Given the description of an element on the screen output the (x, y) to click on. 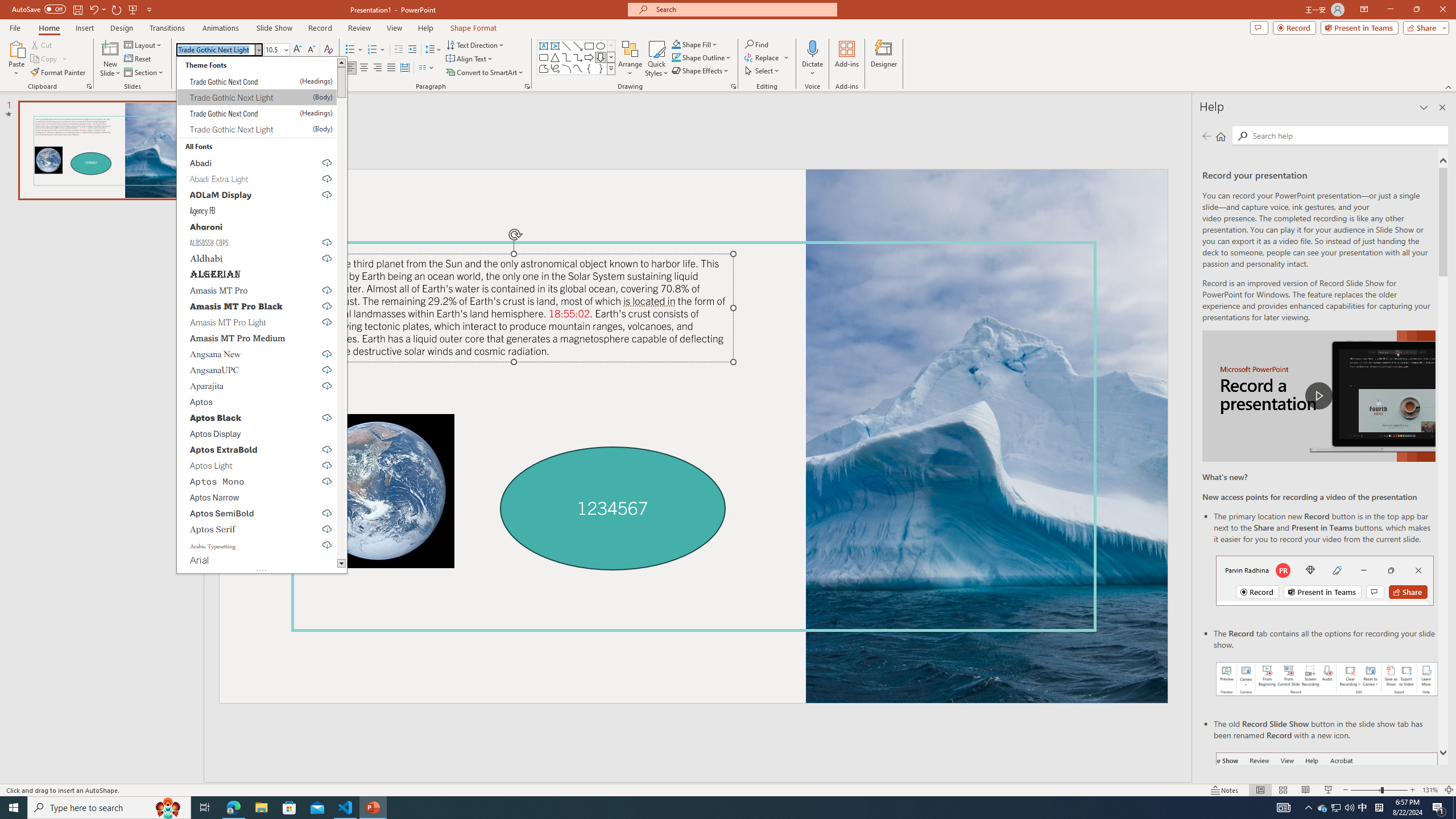
Bullets (349, 49)
Aptos (256, 401)
Find... (756, 44)
Align Text (470, 58)
Reading View (1305, 790)
play Record a Presentation (1318, 395)
Aptos SemiBold, select to download (256, 512)
Notes  (1225, 790)
Freeform: Shape (543, 68)
Close pane (1441, 107)
Text Highlight Color Yellow (297, 67)
ADLaM Display, select to download (256, 194)
Isosceles Triangle (554, 57)
Line Arrow (577, 45)
Shadow (223, 67)
